Given the description of an element on the screen output the (x, y) to click on. 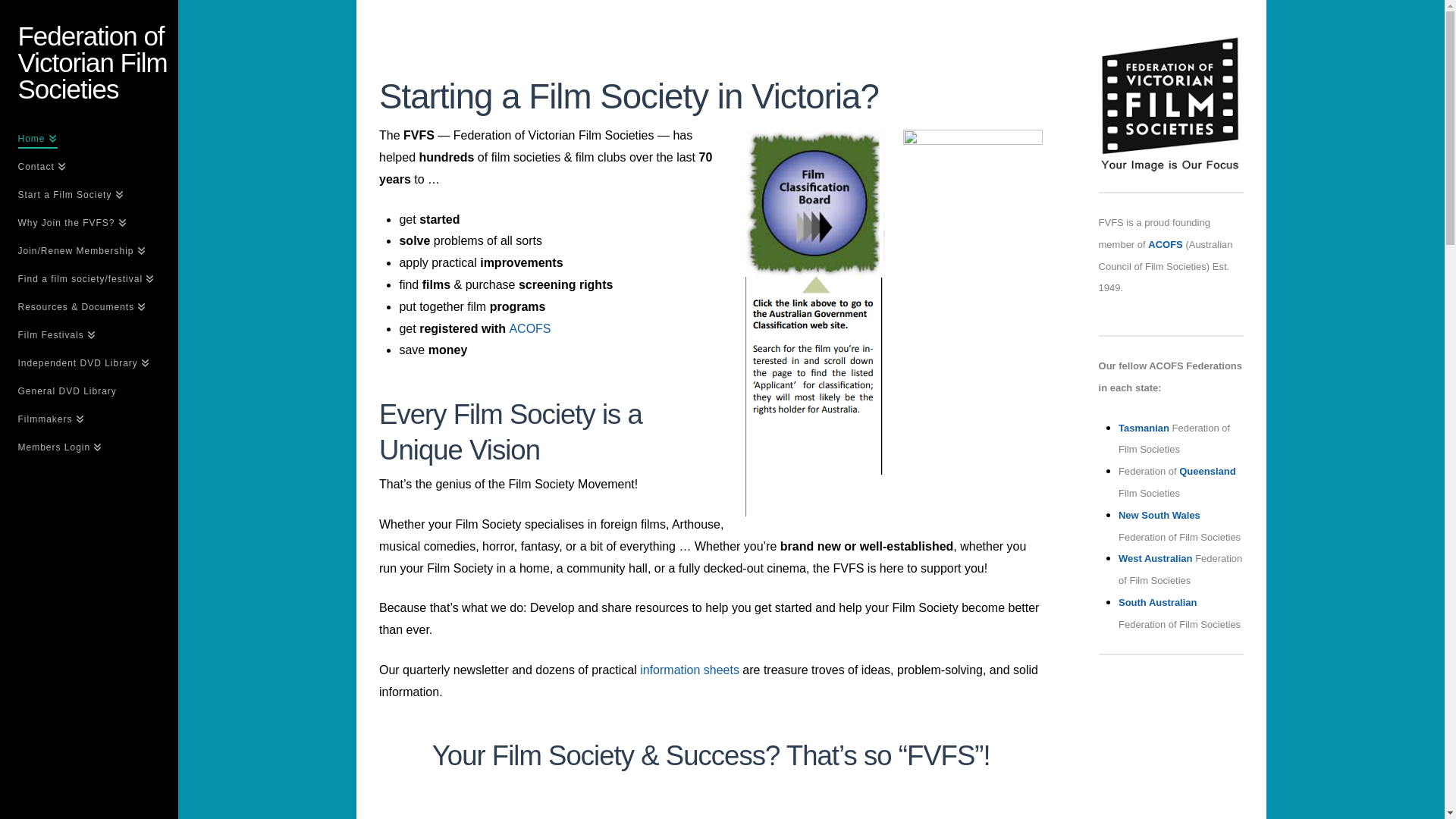
Start a Film Society Element type: text (89, 196)
General DVD Library Element type: text (89, 393)
Find a film society/festival Element type: text (89, 280)
West Australian Element type: text (1155, 558)
Independent DVD Library Element type: text (89, 365)
Contact Element type: text (89, 168)
Why Join the FVFS? Element type: text (89, 224)
ACOFS Element type: text (1165, 244)
Tasmanian Element type: text (1143, 427)
Resources & Documents Element type: text (89, 308)
Members Login Element type: text (89, 449)
Home Element type: text (89, 140)
Film Festivals Element type: text (89, 337)
Federation of Victorian Film Societies Element type: text (98, 62)
Join/Renew Membership Element type: text (89, 252)
New South Wales Element type: text (1159, 514)
information sheets Element type: text (689, 669)
Queensland Element type: text (1207, 470)
ACOFS Element type: text (529, 327)
Filmmakers Element type: text (89, 421)
South Australian Element type: text (1157, 602)
